Given the description of an element on the screen output the (x, y) to click on. 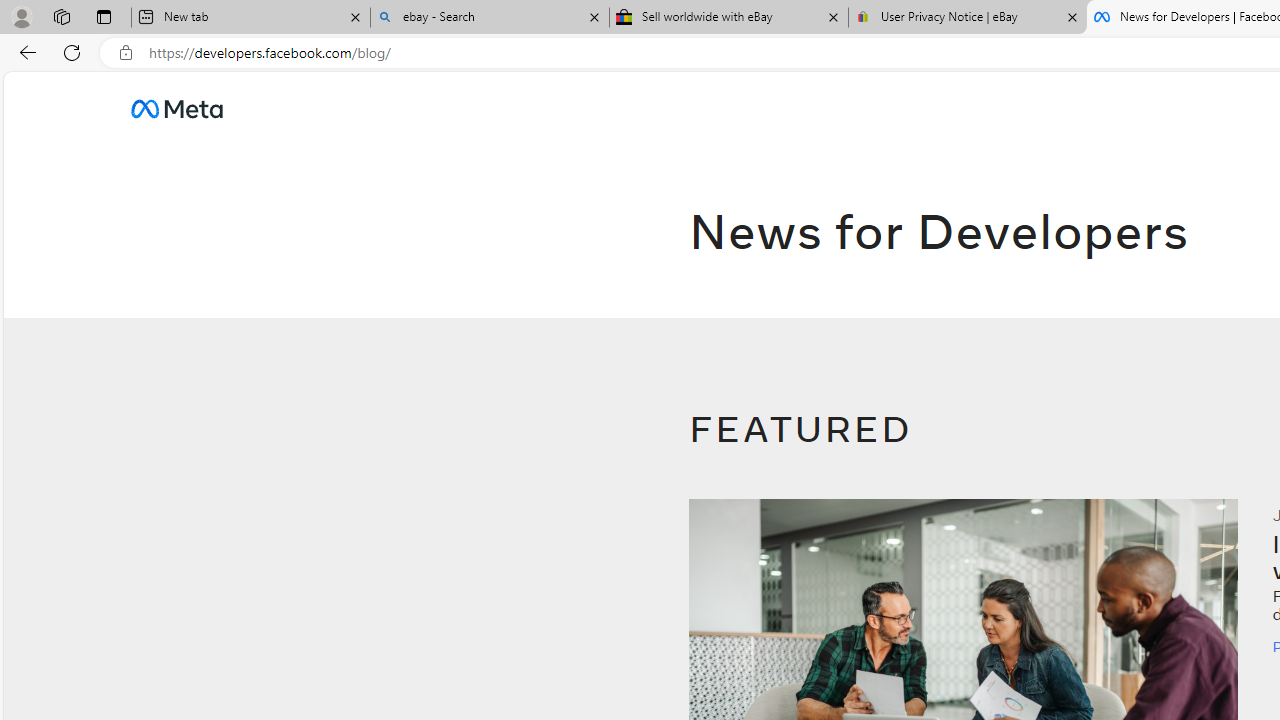
AutomationID: u_0_4z_2S (176, 107)
Sell worldwide with eBay (729, 17)
User Privacy Notice | eBay (967, 17)
